Given the description of an element on the screen output the (x, y) to click on. 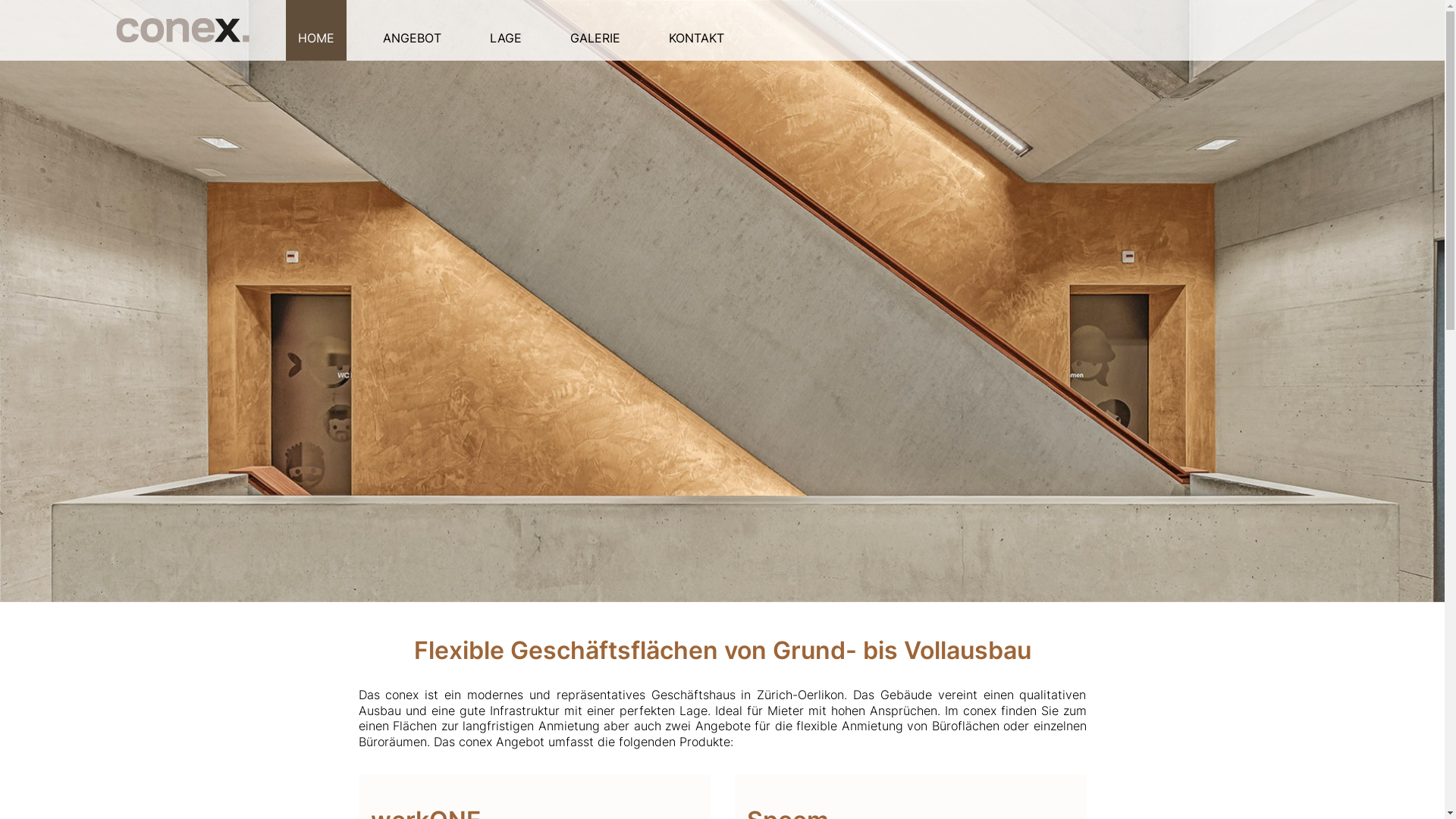
KONTAKT Element type: text (696, 30)
ANGEBOT Element type: text (411, 30)
HOME Element type: text (315, 30)
LAGE Element type: text (505, 30)
GALERIE Element type: text (595, 30)
